Given the description of an element on the screen output the (x, y) to click on. 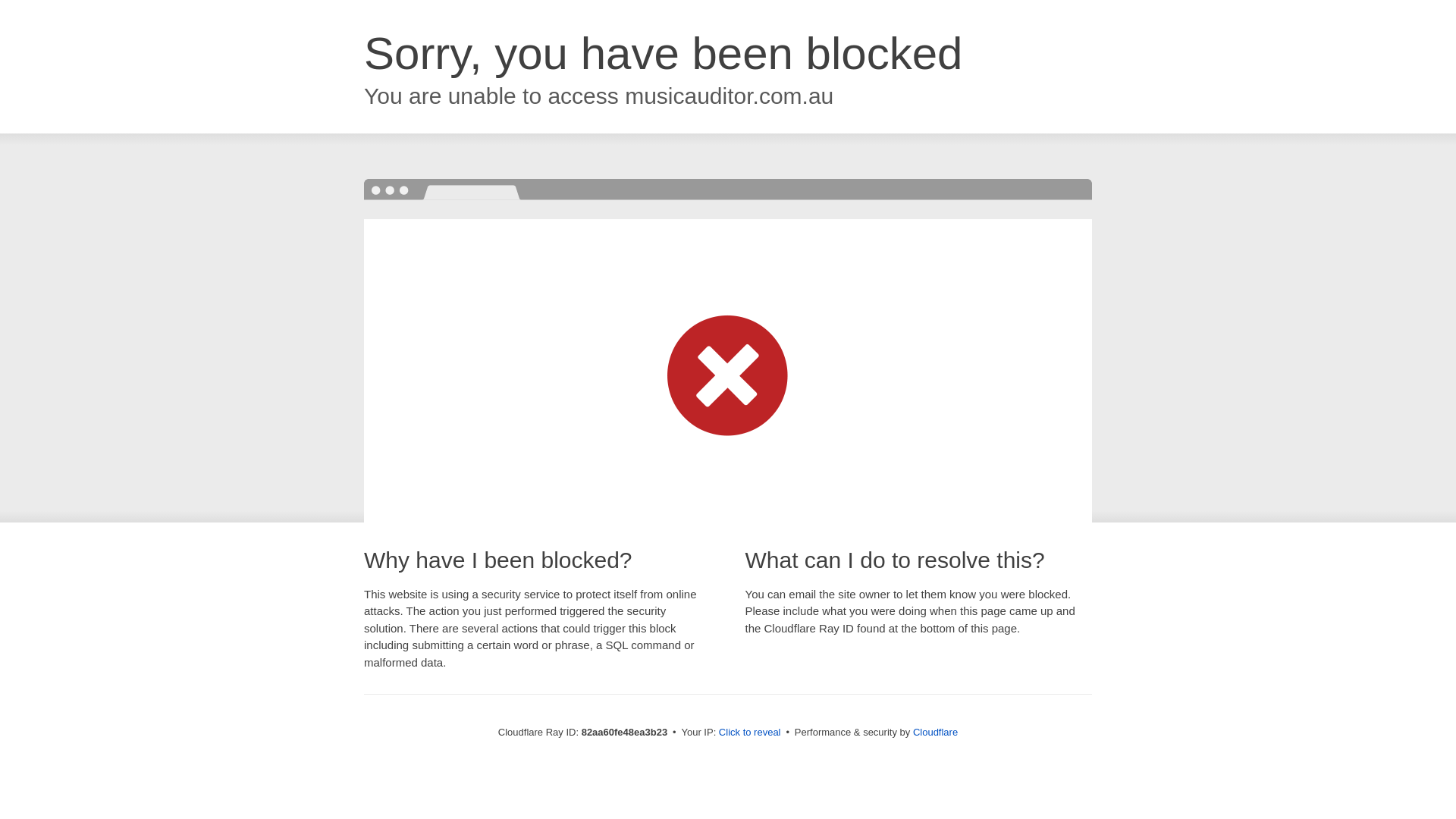
Cloudflare Element type: text (935, 731)
Click to reveal Element type: text (749, 732)
